Given the description of an element on the screen output the (x, y) to click on. 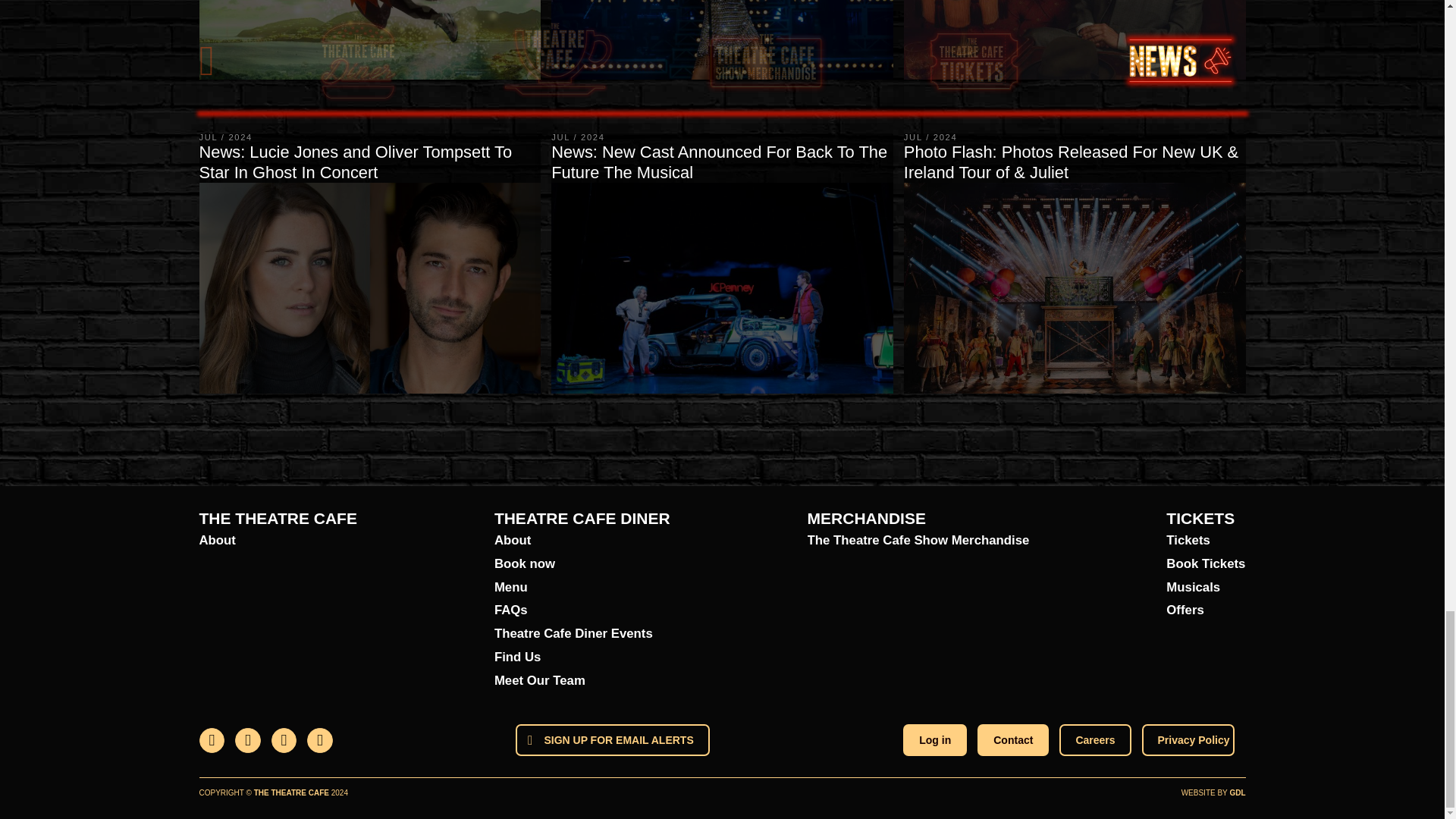
Book now (582, 564)
Meet Our Team (582, 680)
Find Us (582, 657)
Tickets (1205, 540)
Menu (582, 587)
About (277, 540)
THE THEATRE CAFE (277, 517)
FAQs (582, 610)
Book Tickets (1205, 564)
Theatre Cafe Diner Events (582, 634)
The Theatre Cafe Show Merchandise (918, 540)
About (582, 540)
